Given the description of an element on the screen output the (x, y) to click on. 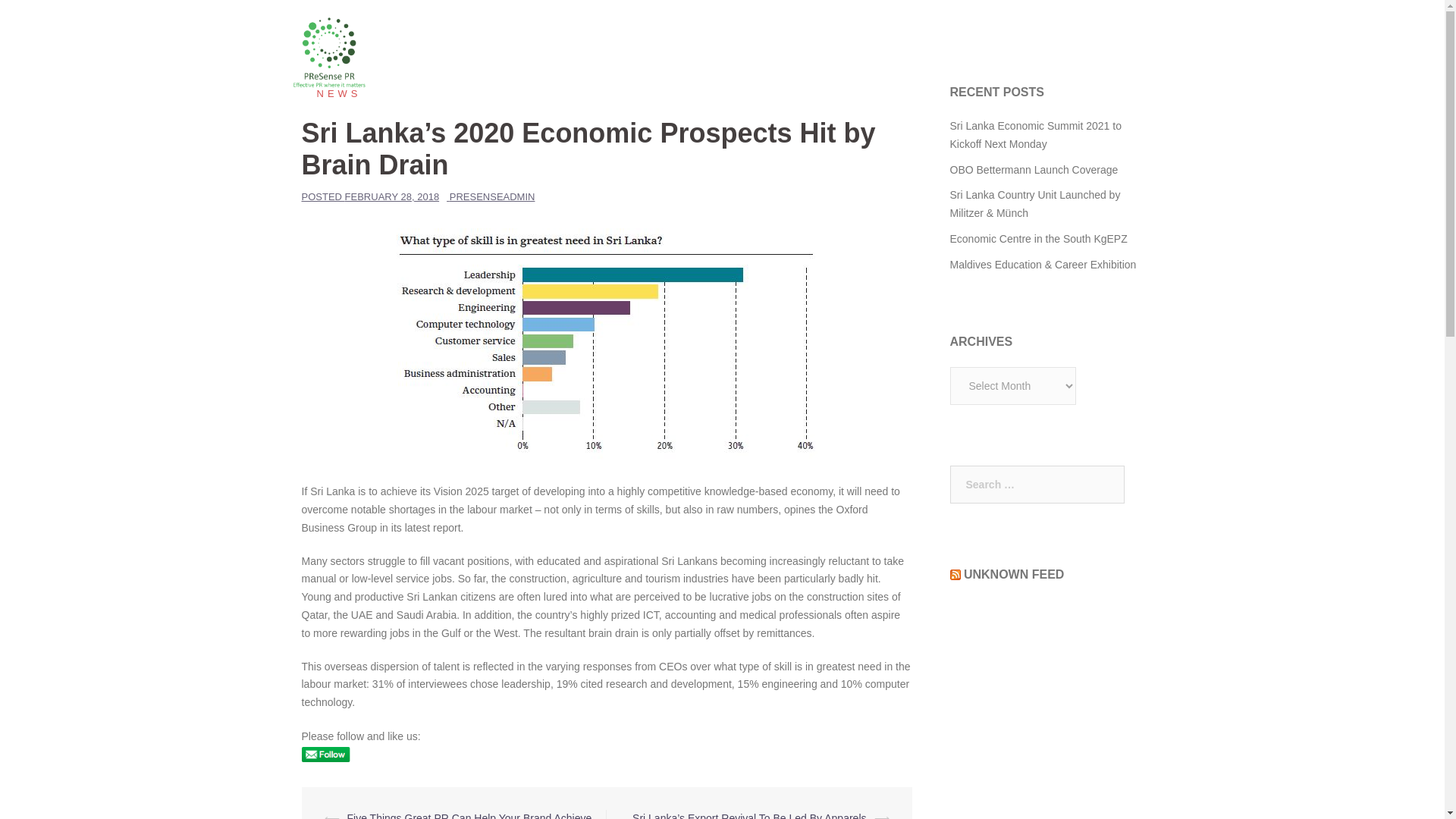
About Us (1048, 53)
FEBRUARY 28, 2018 (392, 196)
Blog (804, 53)
PReSense PR (329, 51)
NEWS (331, 93)
Five Things Great PR Can Help Your Brand Achieve (469, 815)
News (331, 93)
PReSense PR Projects (890, 53)
Economic Centre in the South KgEPZ (1037, 238)
PRESENSEADMIN (492, 196)
Sri Lanka Economic Summit 2021 to Kickoff Next Monday (1035, 134)
Home (758, 53)
UNKNOWN FEED (1013, 574)
Search (47, 18)
